Given the description of an element on the screen output the (x, y) to click on. 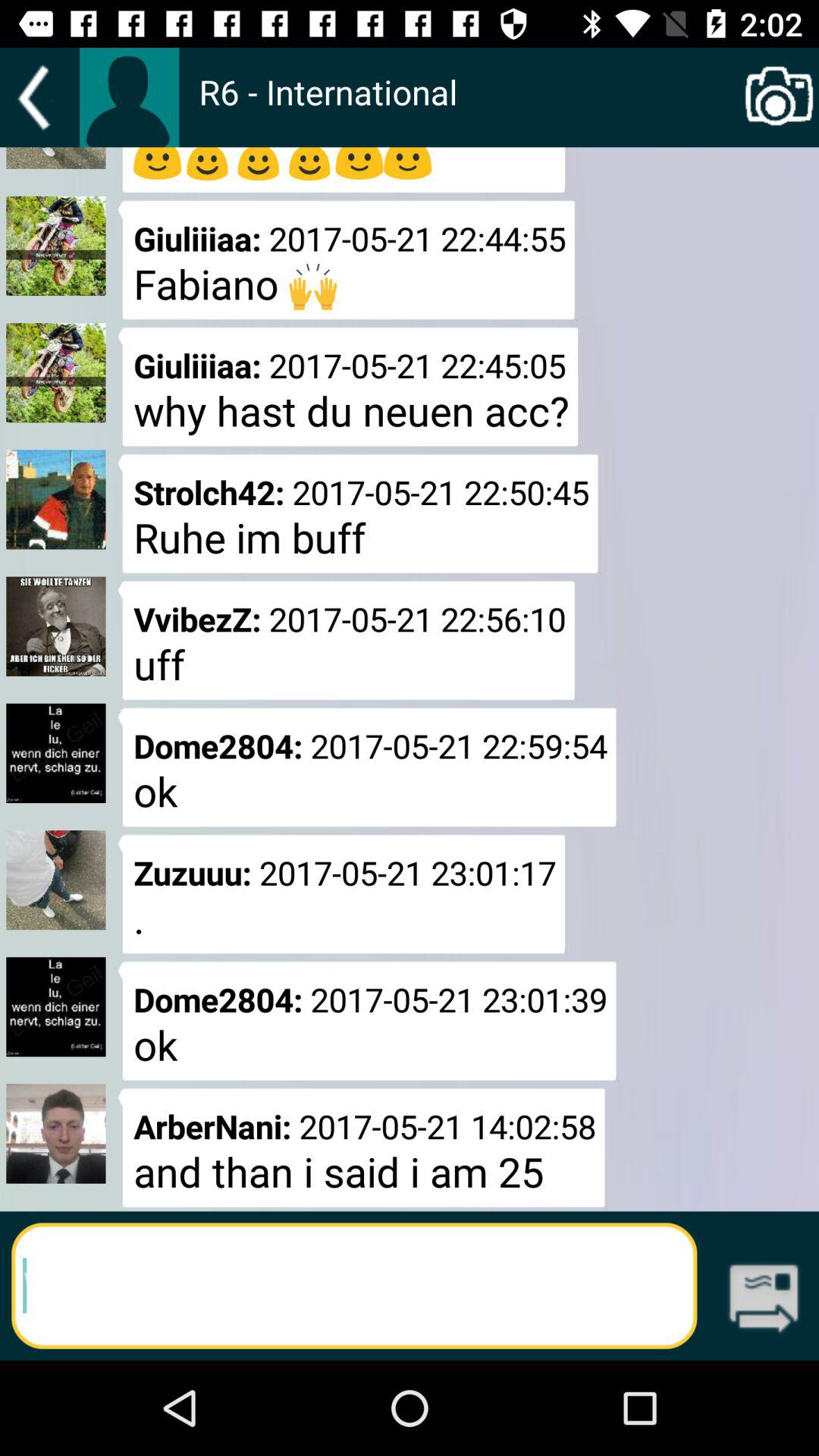
go to your profile (129, 97)
